Given the description of an element on the screen output the (x, y) to click on. 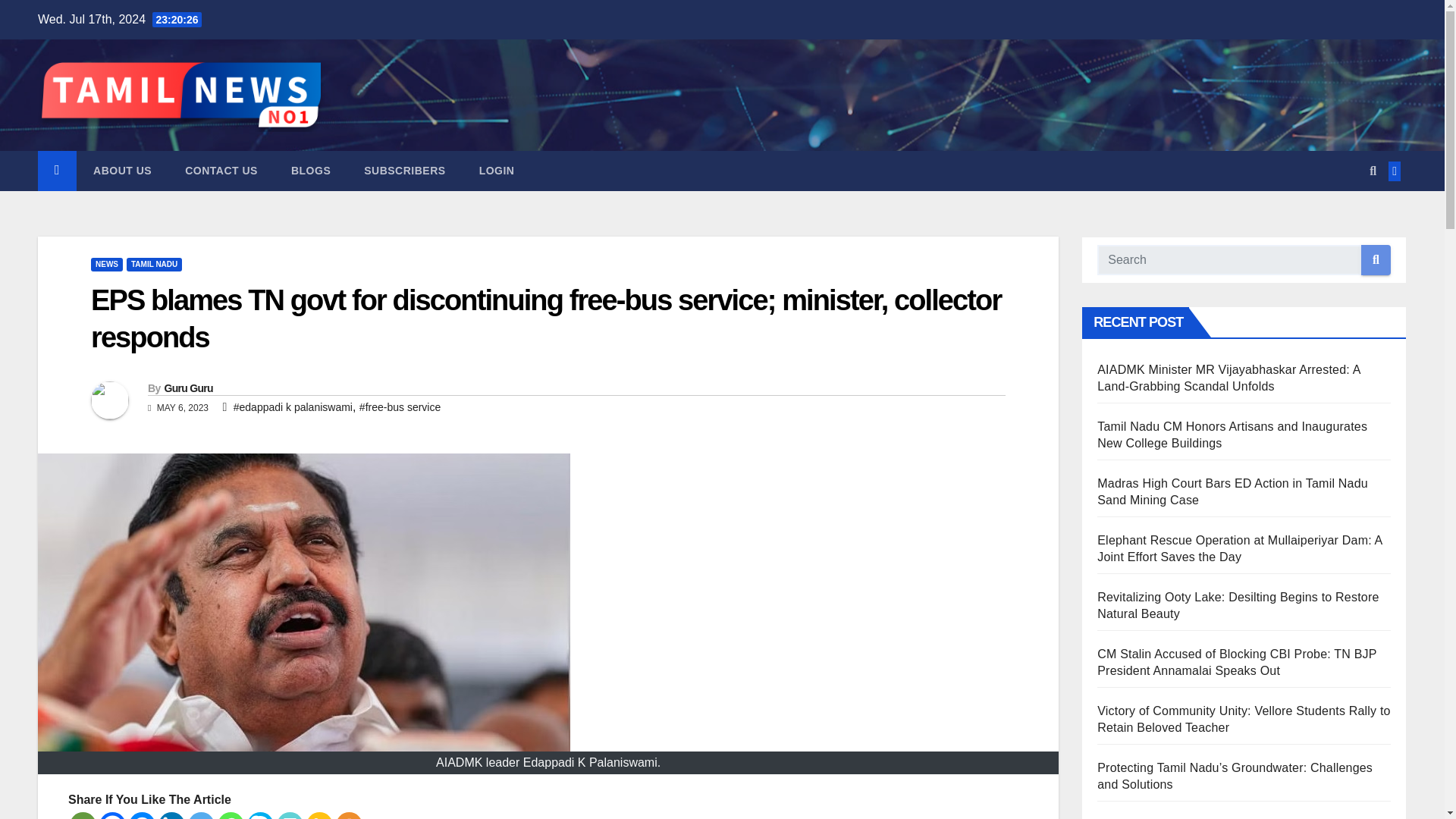
Subscribers (404, 170)
Blogs (311, 170)
PrintFriendly (289, 815)
Skype (260, 815)
Twitter (200, 815)
ABOUT US (122, 170)
Guru Guru (187, 387)
Linkedin (171, 815)
BLOGS (311, 170)
Whatsapp (230, 815)
CONTACT US (221, 170)
Contact Us (221, 170)
LOGIN (497, 170)
